Given the description of an element on the screen output the (x, y) to click on. 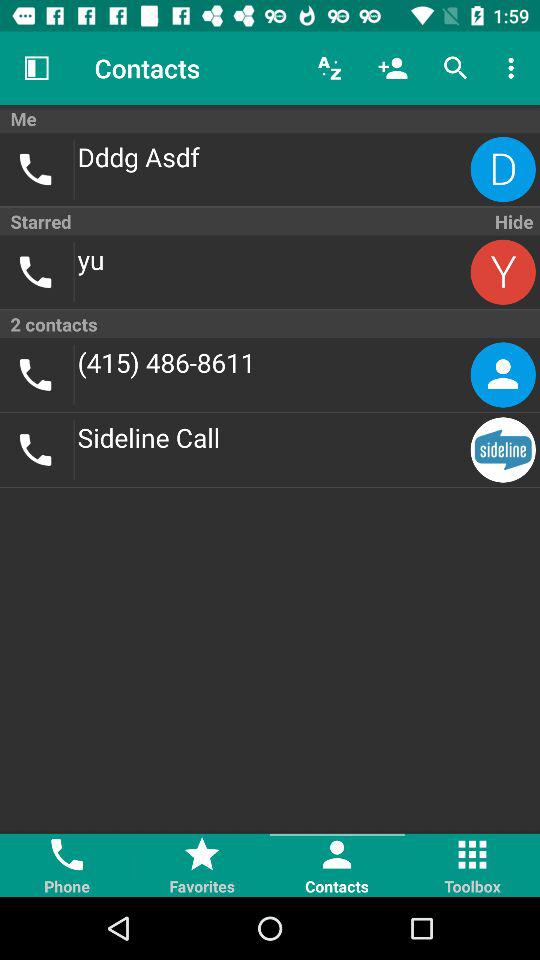
choose icon above the me icon (455, 67)
